Given the description of an element on the screen output the (x, y) to click on. 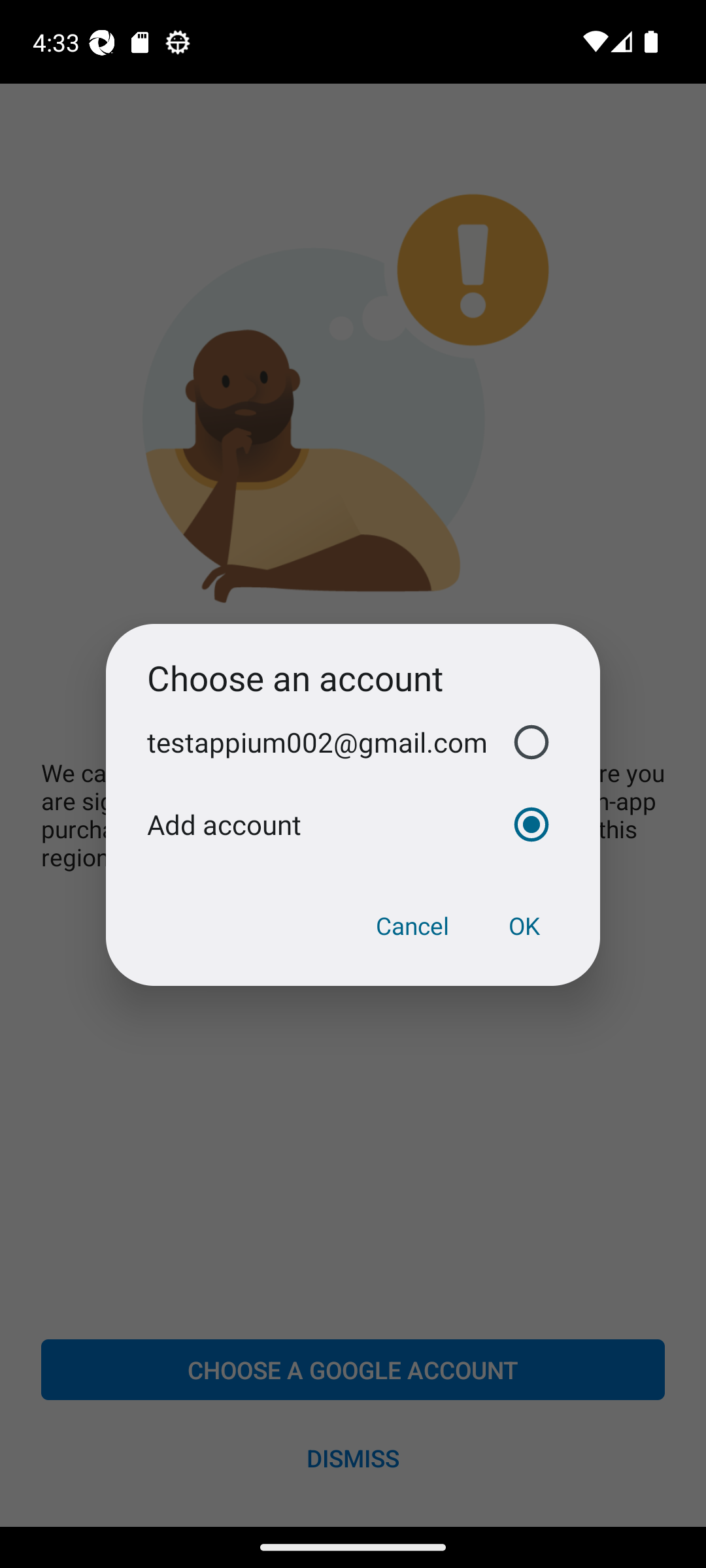
testappium002@gmail.com (352, 742)
Add account (352, 824)
Cancel (412, 925)
OK (523, 925)
